Given the description of an element on the screen output the (x, y) to click on. 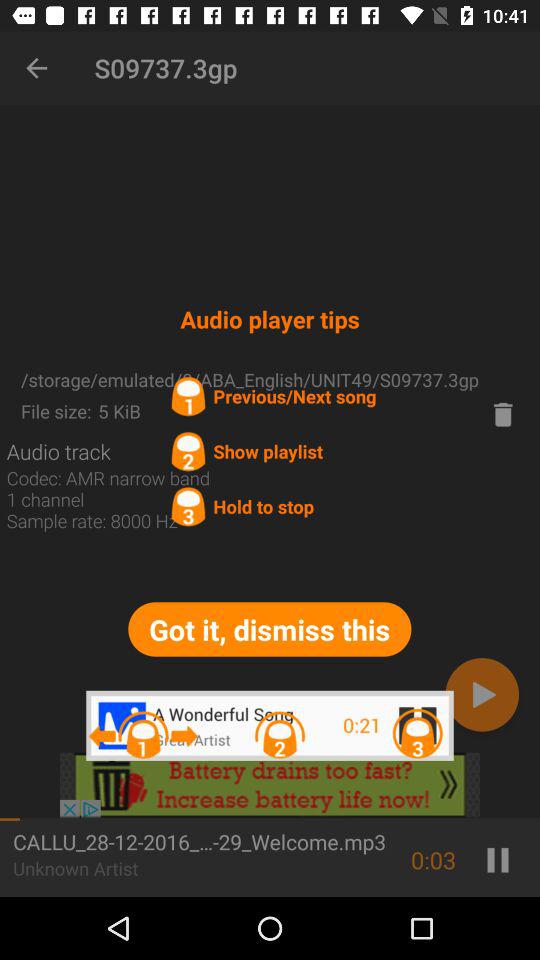
because back devicer (503, 414)
